Given the description of an element on the screen output the (x, y) to click on. 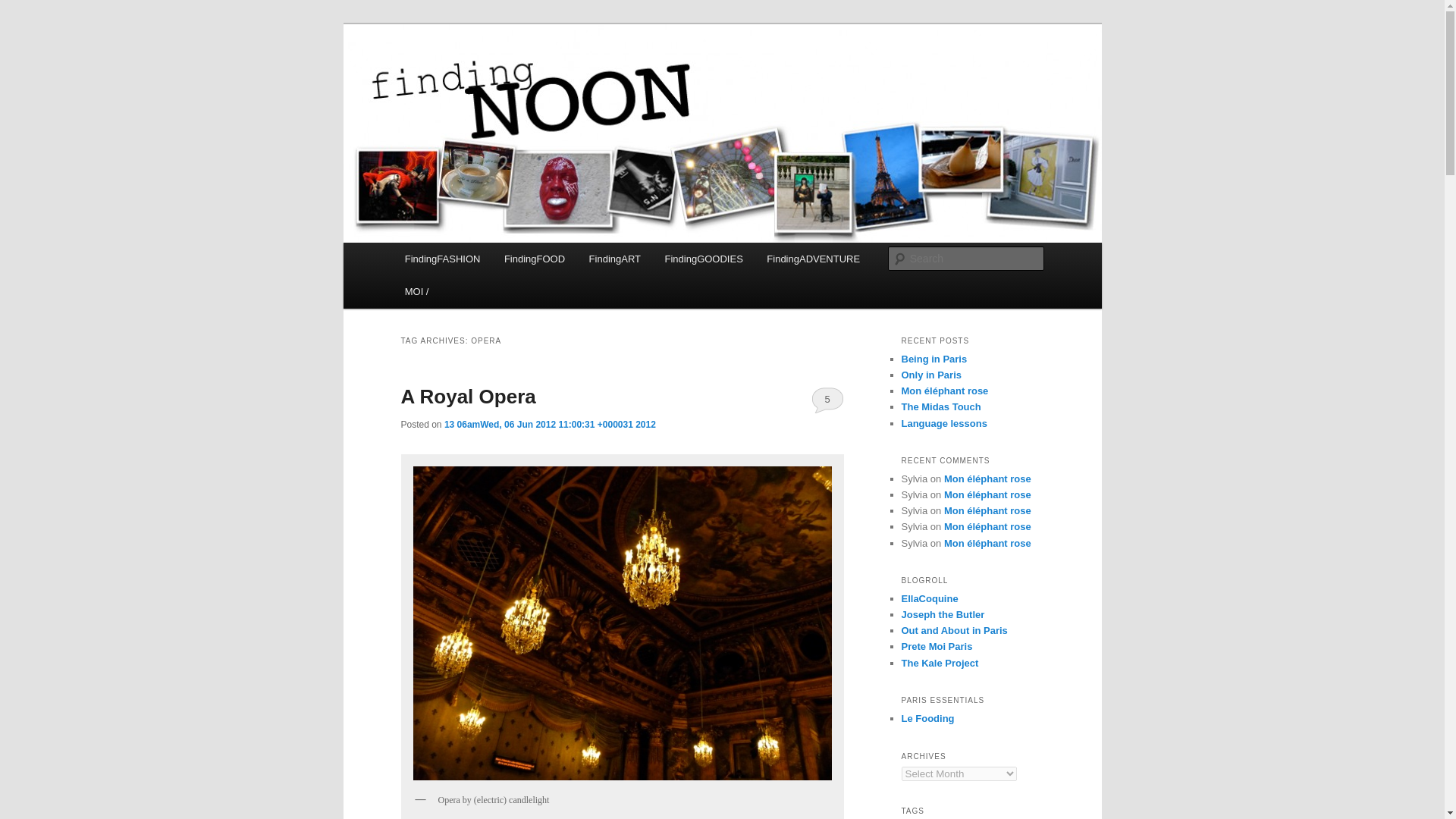
FindingADVENTURE (813, 258)
Bringing Kale to Paris (939, 663)
In love In Paris (929, 598)
FindingFASHION (442, 258)
5 (827, 399)
FindingFOOD (534, 258)
11:00 am (550, 424)
FindingART (614, 258)
A Royal Opera (467, 395)
Search (24, 8)
Finding Noon (473, 78)
FindingGOODIES (703, 258)
Really, a butler (942, 614)
